Given the description of an element on the screen output the (x, y) to click on. 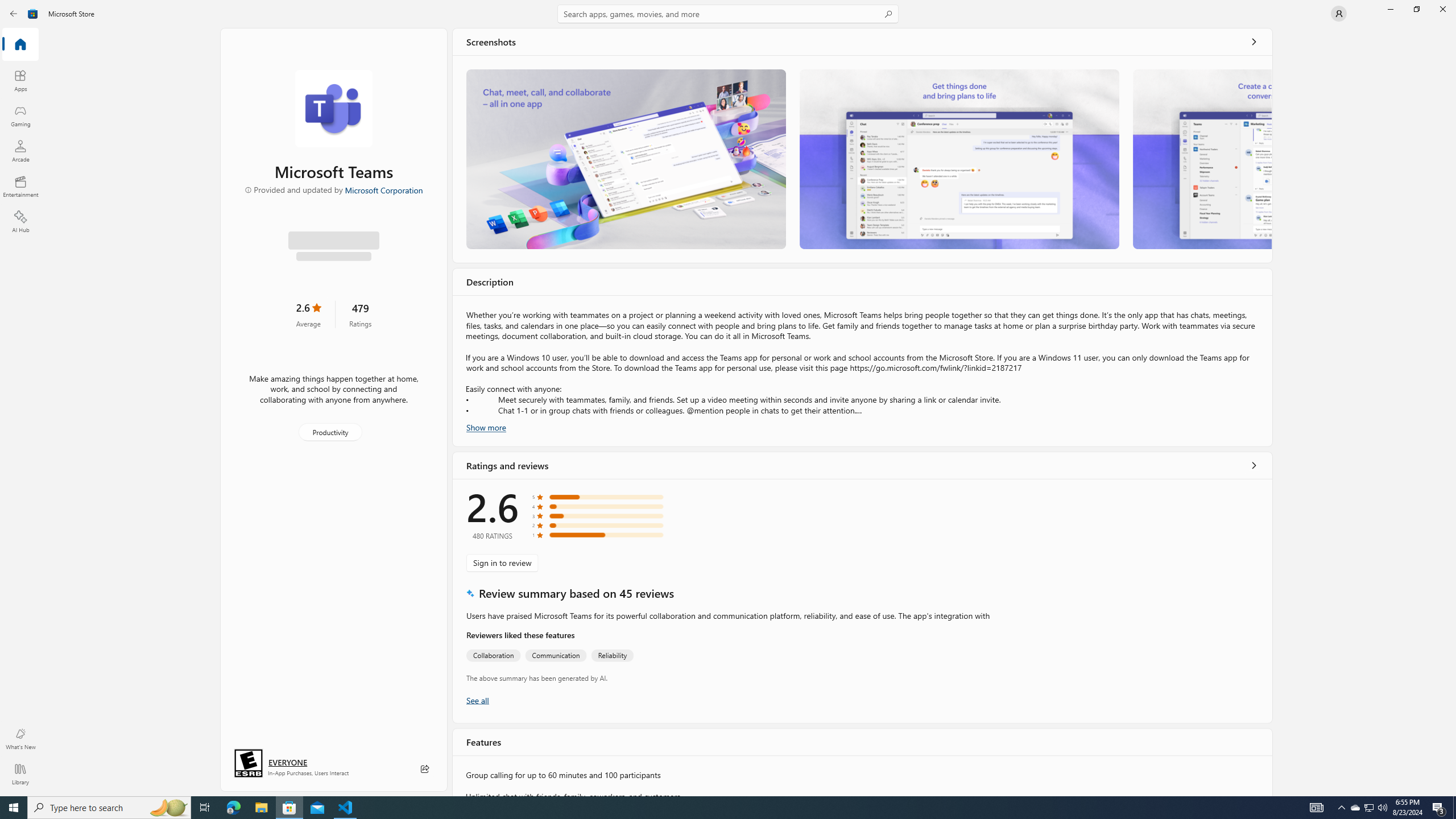
Share (424, 769)
See all (1253, 41)
Library (20, 773)
Gaming (20, 115)
Screenshot 1 (625, 158)
2.6 stars. Click to skip to ratings and reviews (307, 313)
Entertainment (20, 185)
What's New (20, 738)
Show all ratings and reviews (477, 699)
Screenshot 2 (959, 158)
Show more (485, 426)
Microsoft Corporation (383, 189)
Productivity (329, 431)
Search (727, 13)
